Given the description of an element on the screen output the (x, y) to click on. 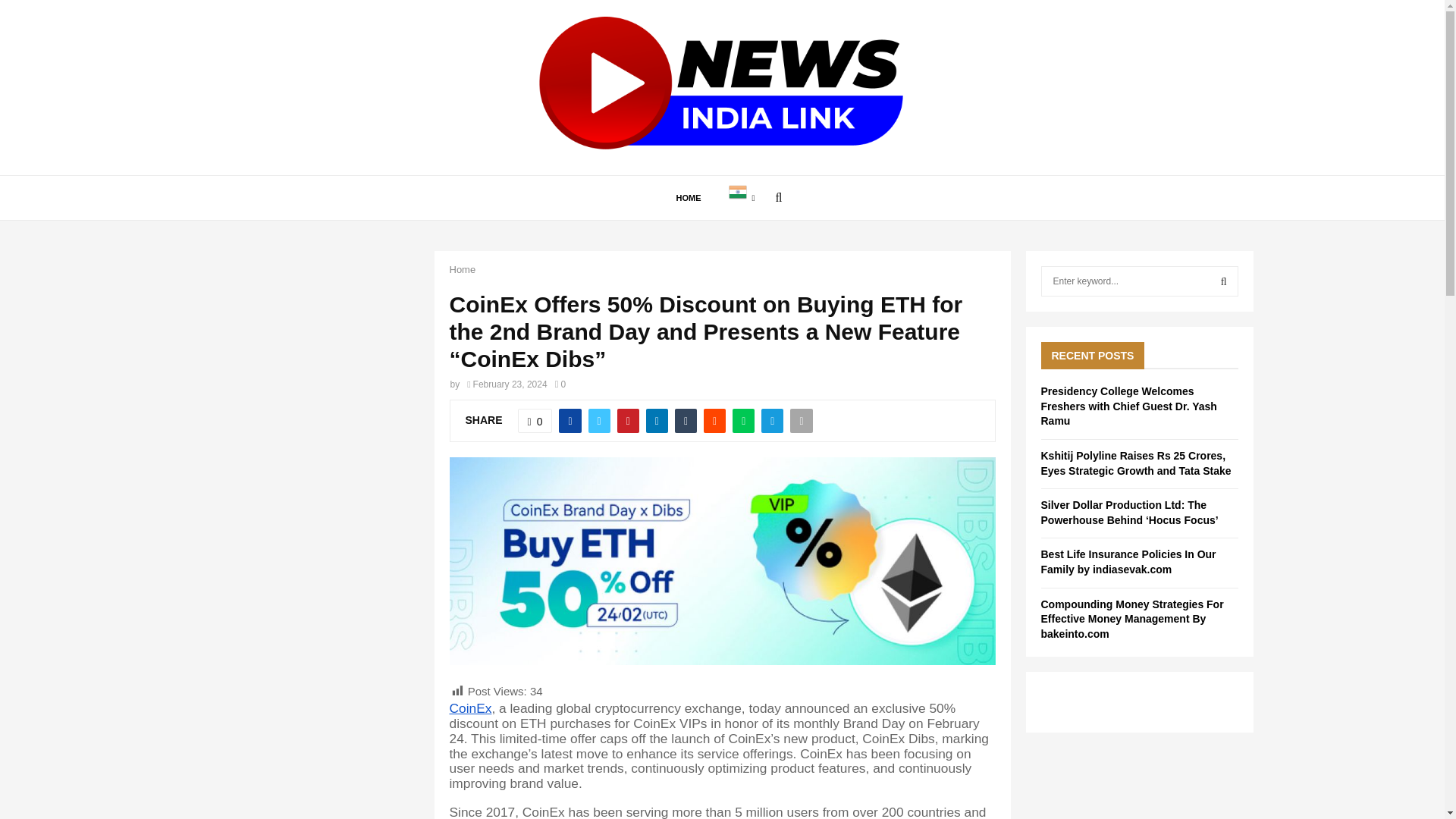
Like (535, 420)
0 (535, 420)
CoinEx (470, 707)
0 (560, 384)
HOME (688, 197)
Home (462, 269)
